Given the description of an element on the screen output the (x, y) to click on. 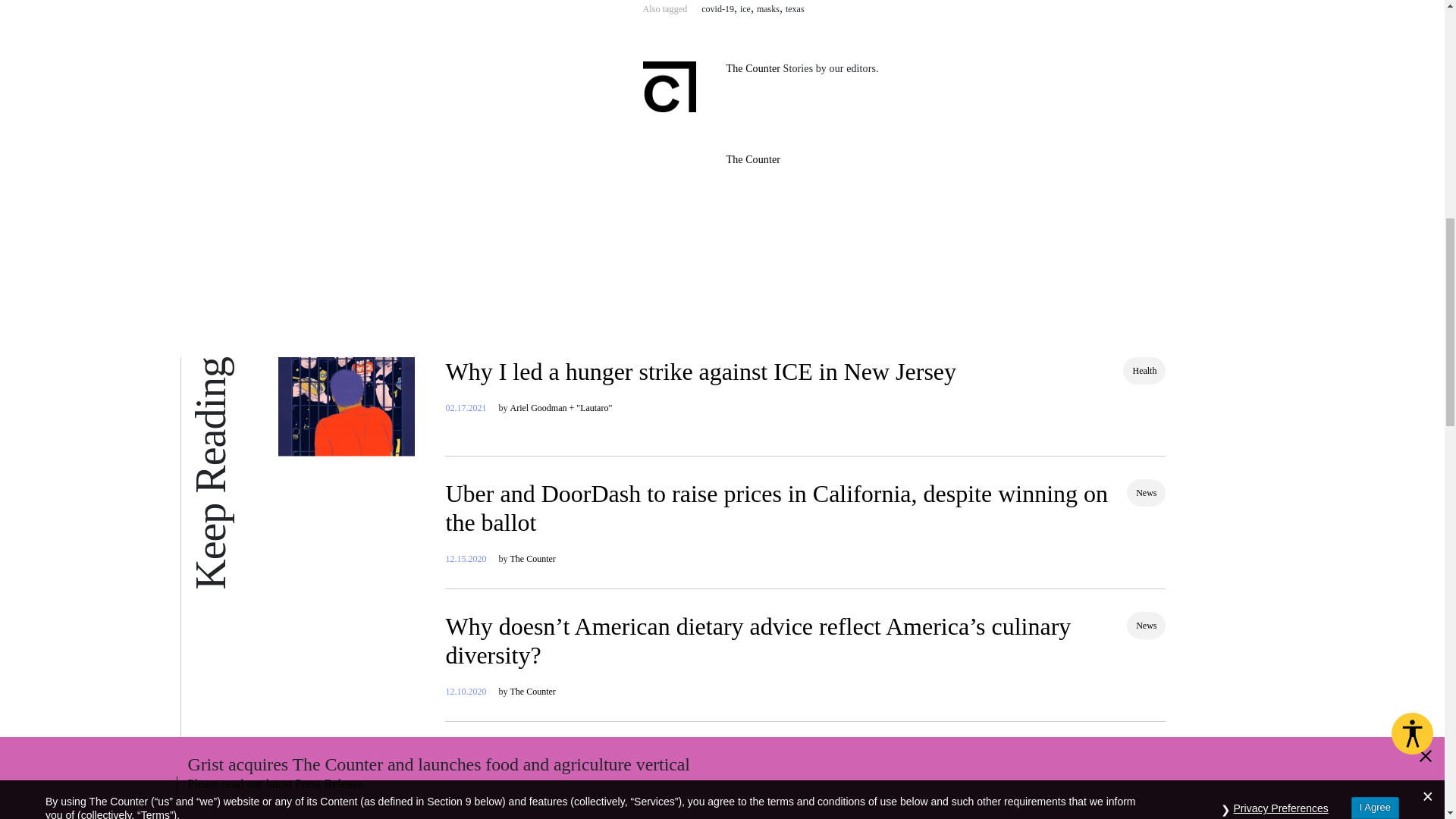
The Counter (753, 159)
The Counter (753, 68)
Why I led a hunger strike against ICE in New Jersey (700, 370)
ice (745, 9)
covid-19 (717, 9)
texas (795, 9)
masks (767, 9)
